Given the description of an element on the screen output the (x, y) to click on. 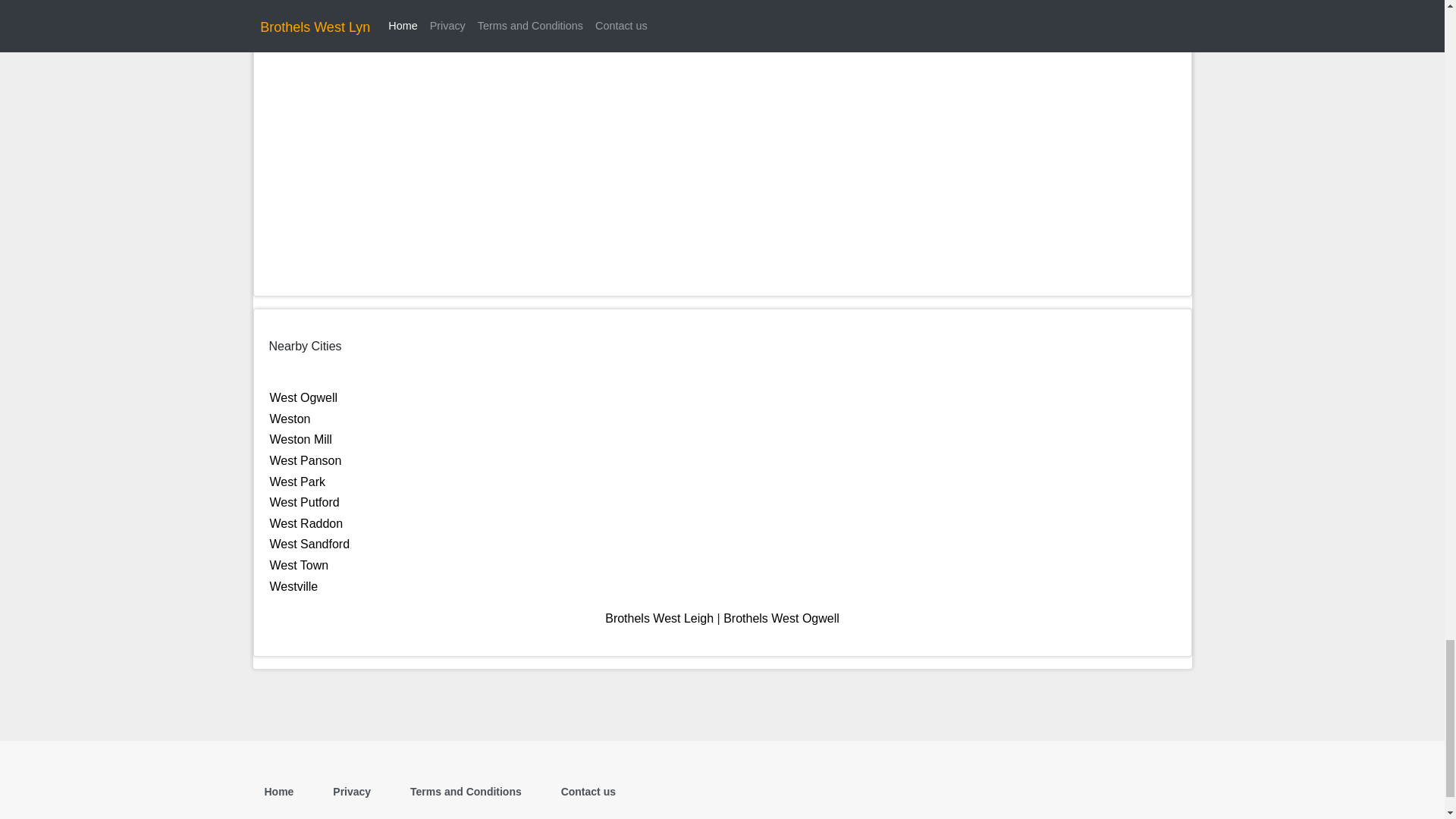
Brothels West Ogwell (781, 617)
West Park (297, 481)
West Putford (304, 502)
Brothels West Leigh (659, 617)
Weston (290, 418)
West Ogwell (303, 397)
West Raddon (306, 522)
Westville (293, 585)
West Sandford (309, 543)
Weston Mill (300, 439)
